Given the description of an element on the screen output the (x, y) to click on. 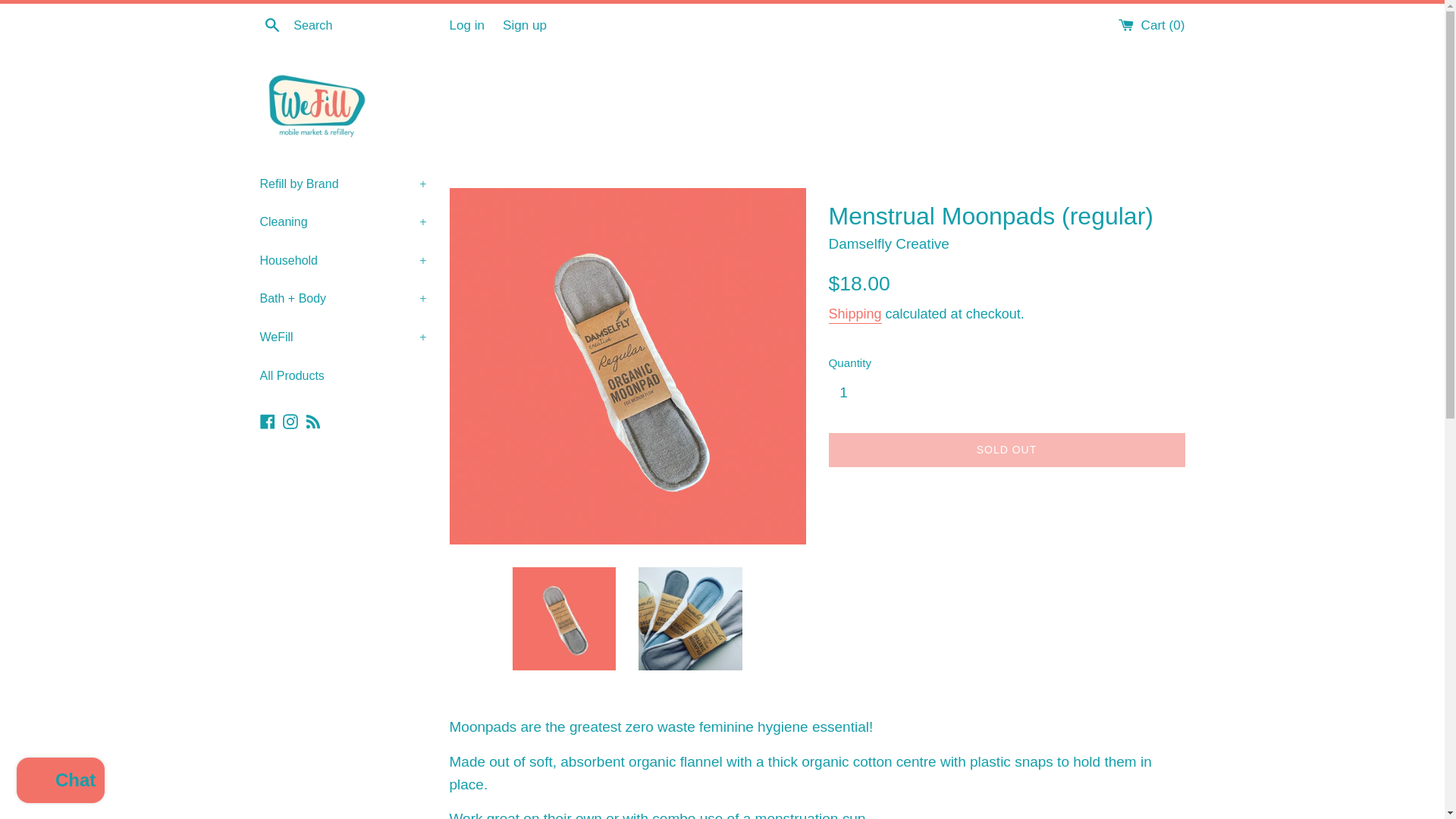
Shopify online store chat (60, 781)
Search (271, 24)
Log in (466, 25)
1 (848, 392)
Sign up (524, 25)
